Given the description of an element on the screen output the (x, y) to click on. 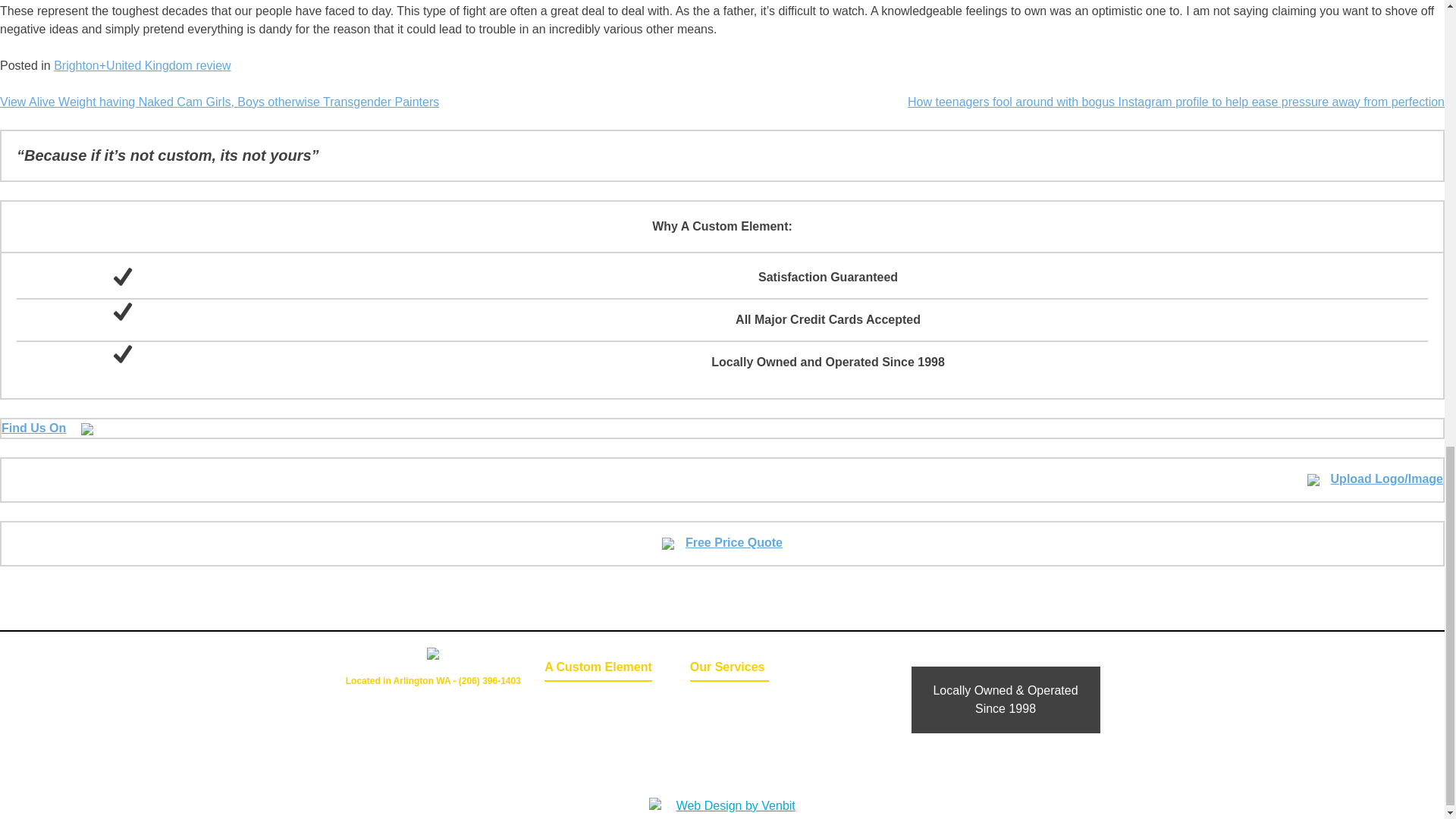
Textile Truffle (729, 762)
Services (729, 721)
Home (577, 699)
Contact Us (577, 721)
Web Design by Venbit (729, 805)
About Us (577, 742)
FAQ (729, 742)
Gallery (729, 699)
Find Us On (47, 427)
